Given the description of an element on the screen output the (x, y) to click on. 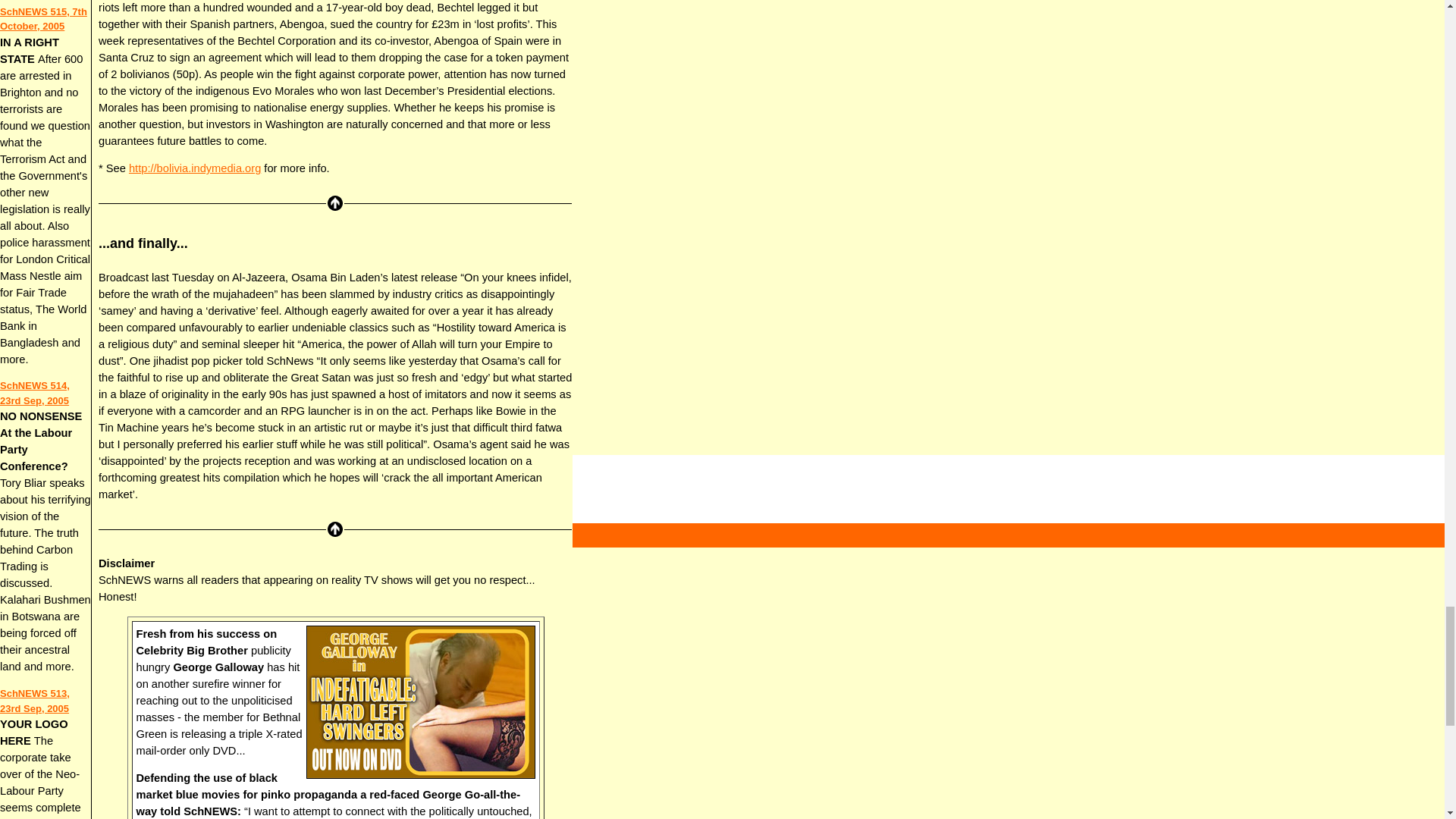
SchNEWS 514, 23rd Sep, 2005 (34, 393)
SchNEWS 513, 23rd Sep, 2005 (34, 700)
SchNEWS 515, 7th October, 2005 (43, 18)
